Given the description of an element on the screen output the (x, y) to click on. 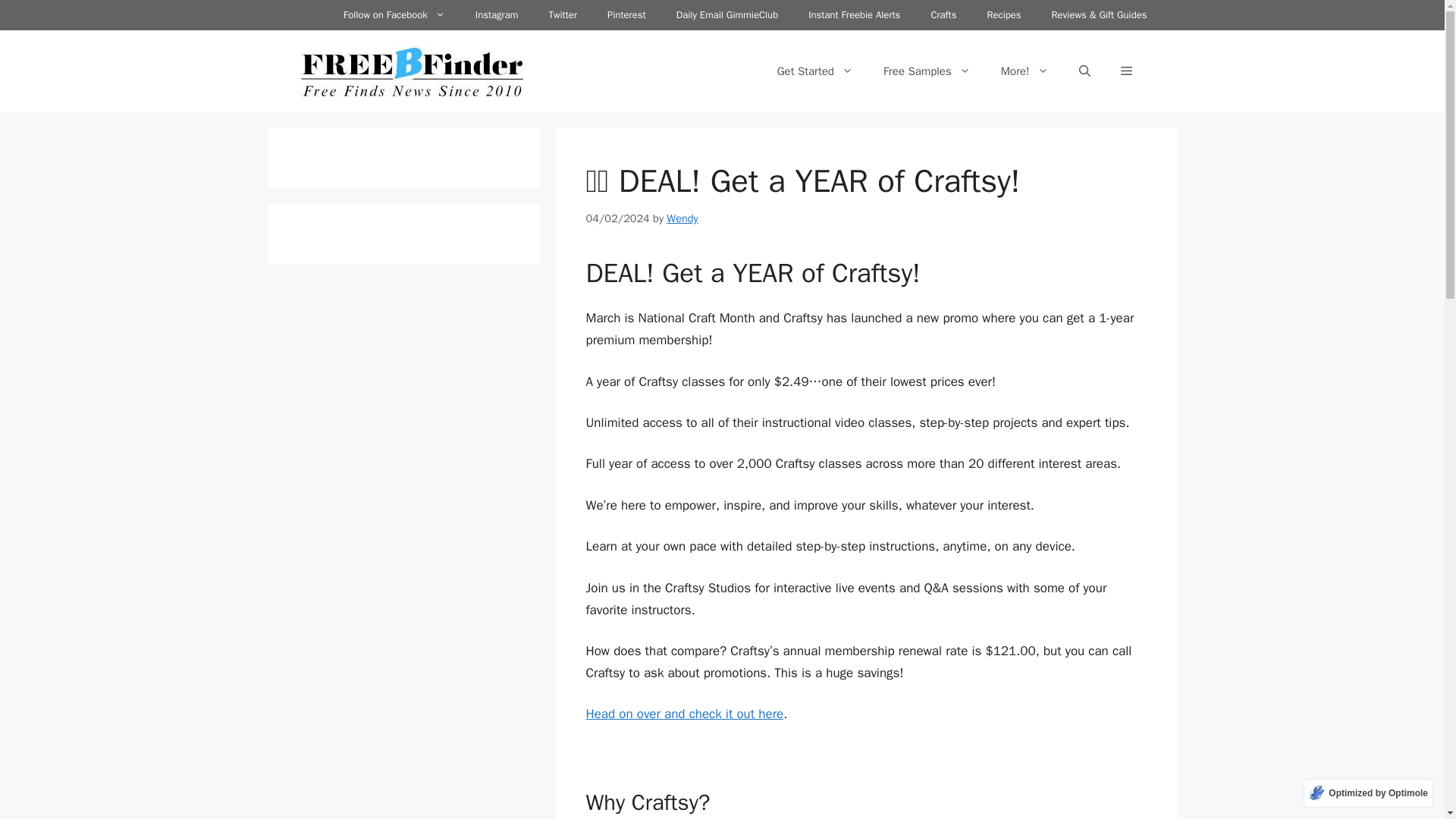
Follow on Facebook (394, 15)
Instant Freebie Alerts (854, 15)
Head on over and check it out here (684, 713)
More! (1024, 71)
Pinterest (626, 15)
Instagram (497, 15)
Free Samples (926, 71)
View all posts by Wendy (681, 218)
Daily Email GimmieClub (727, 15)
Wendy (681, 218)
